Given the description of an element on the screen output the (x, y) to click on. 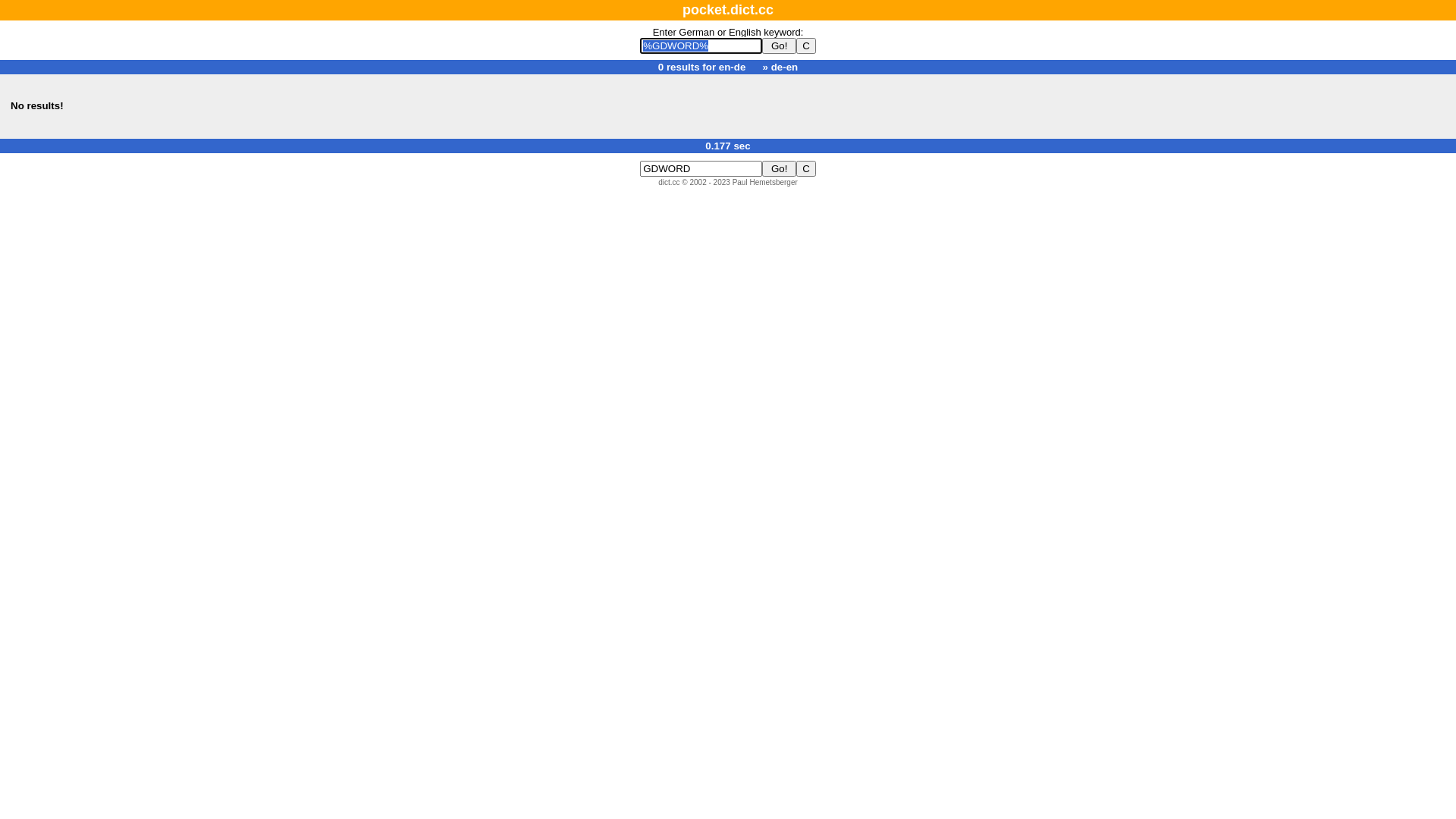
 Go!  Element type: text (779, 168)
pocket.dict.cc Element type: text (727, 9)
de-en Element type: text (784, 66)
 Go!  Element type: text (779, 45)
C Element type: text (805, 45)
Paul Hemetsberger Element type: text (764, 182)
C Element type: text (805, 168)
dict.cc Element type: text (668, 182)
